Given the description of an element on the screen output the (x, y) to click on. 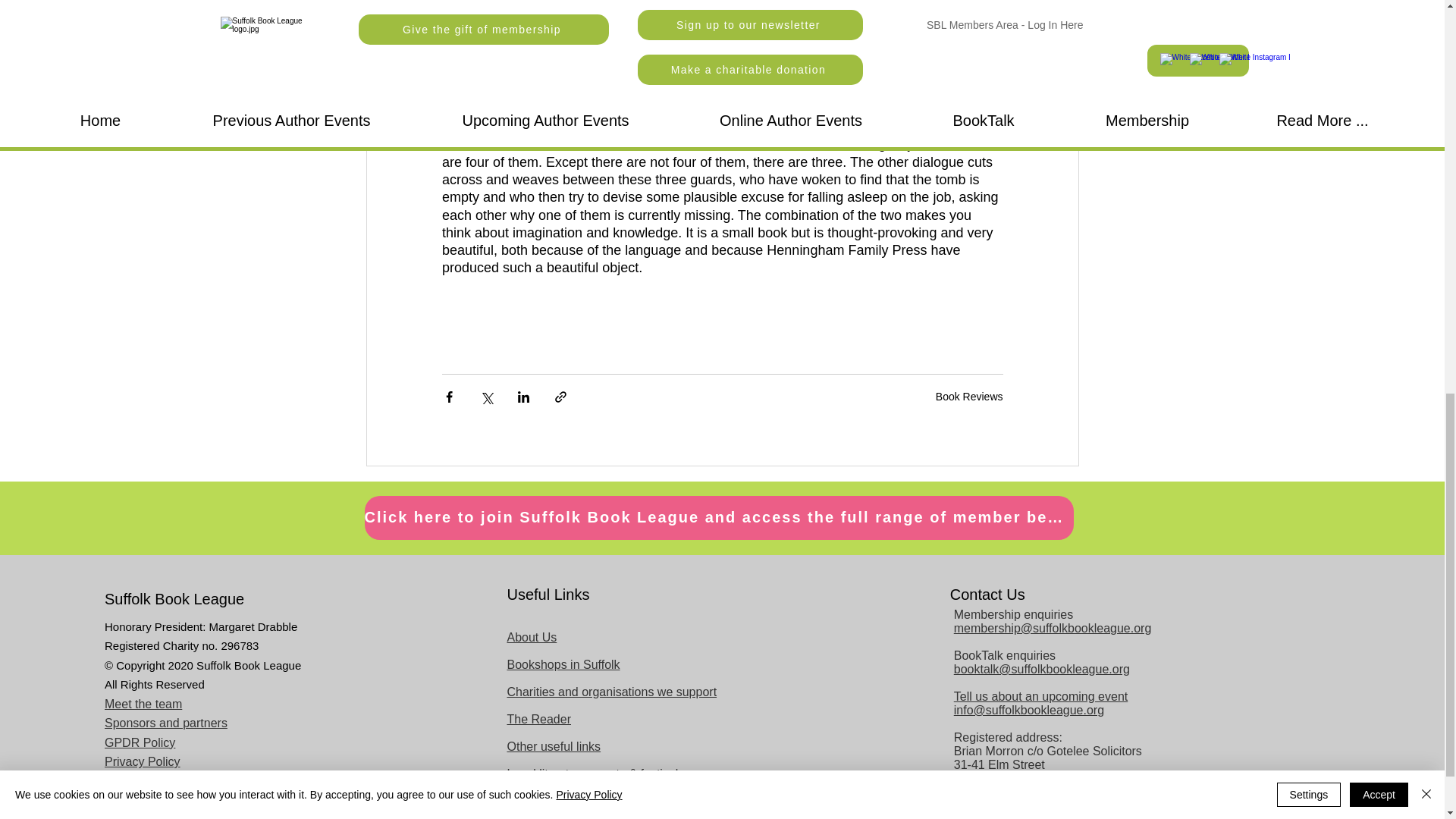
Privacy Policy (142, 761)
Shipping Policy (145, 780)
Book Reviews (969, 396)
Charities and organisations we support (611, 691)
Meet the team (143, 703)
About Us (531, 636)
Bookshops in Suffolk (563, 664)
The Reader (538, 718)
GPDR Policy (139, 742)
